Given the description of an element on the screen output the (x, y) to click on. 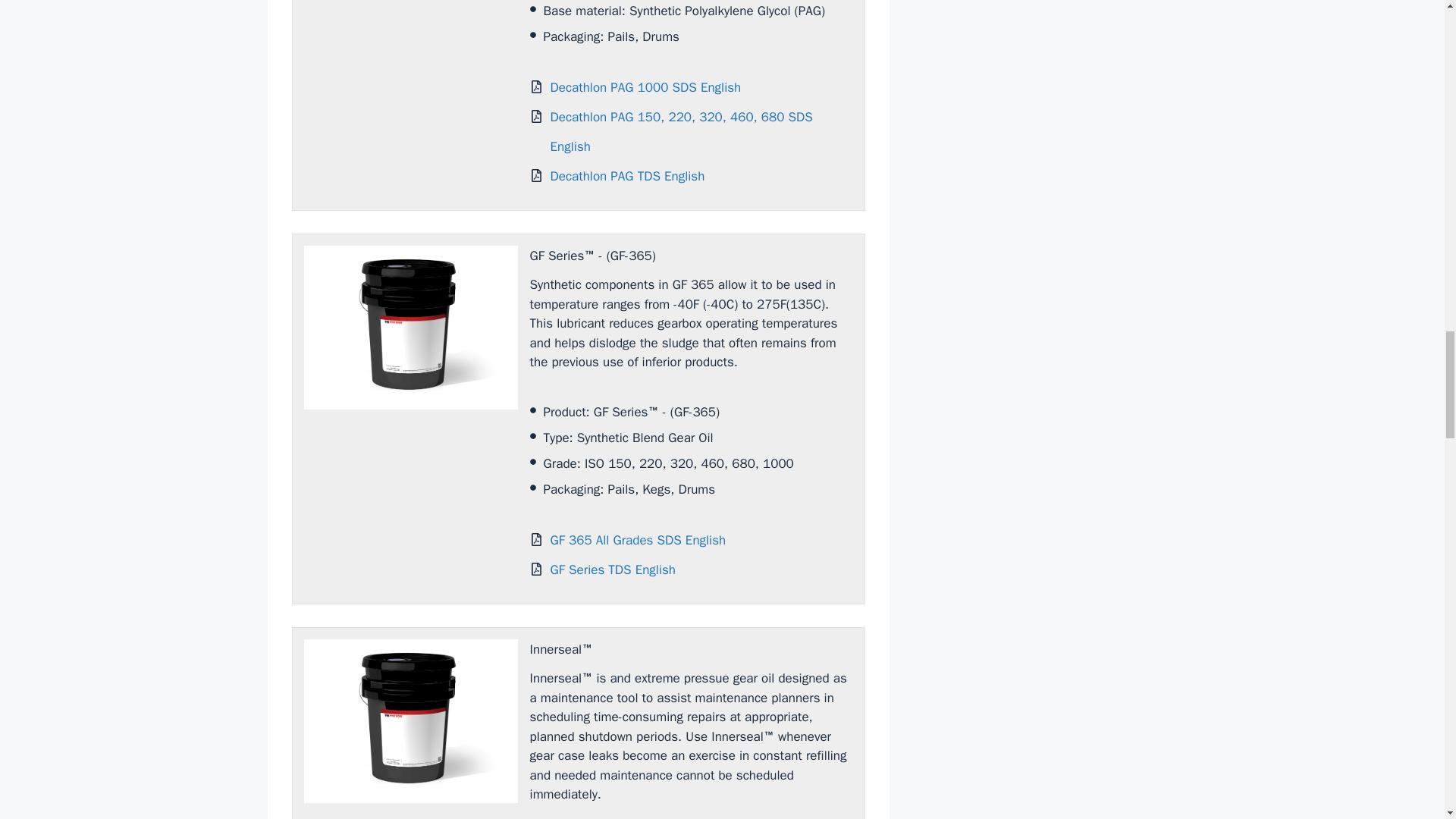
Whitmore Innerseal Gear Oils (409, 721)
